Given the description of an element on the screen output the (x, y) to click on. 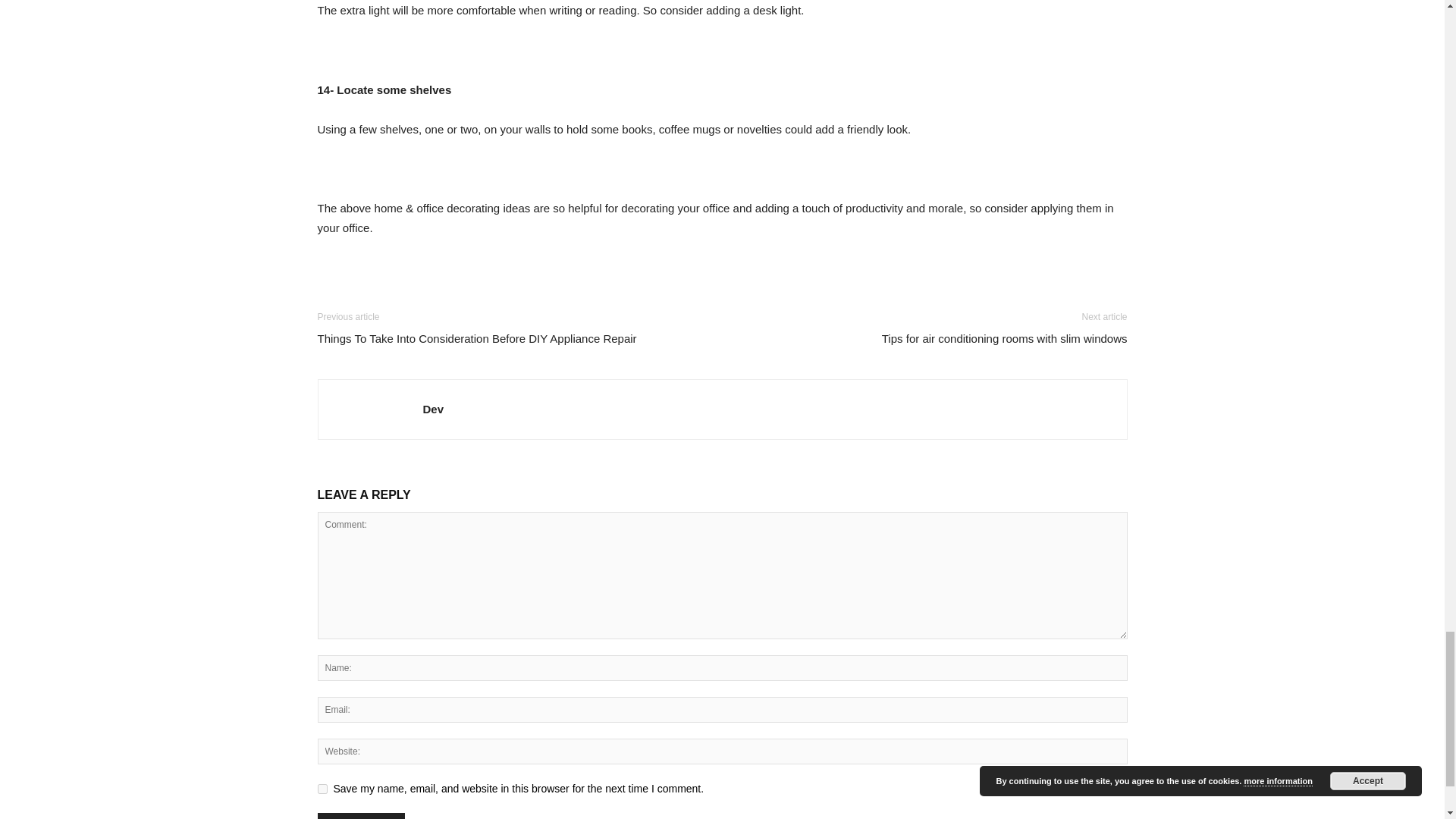
Post Comment (360, 816)
Tips for air conditioning rooms with slim windows (1004, 338)
Dev (433, 408)
Post Comment (360, 816)
yes (321, 788)
